Given the description of an element on the screen output the (x, y) to click on. 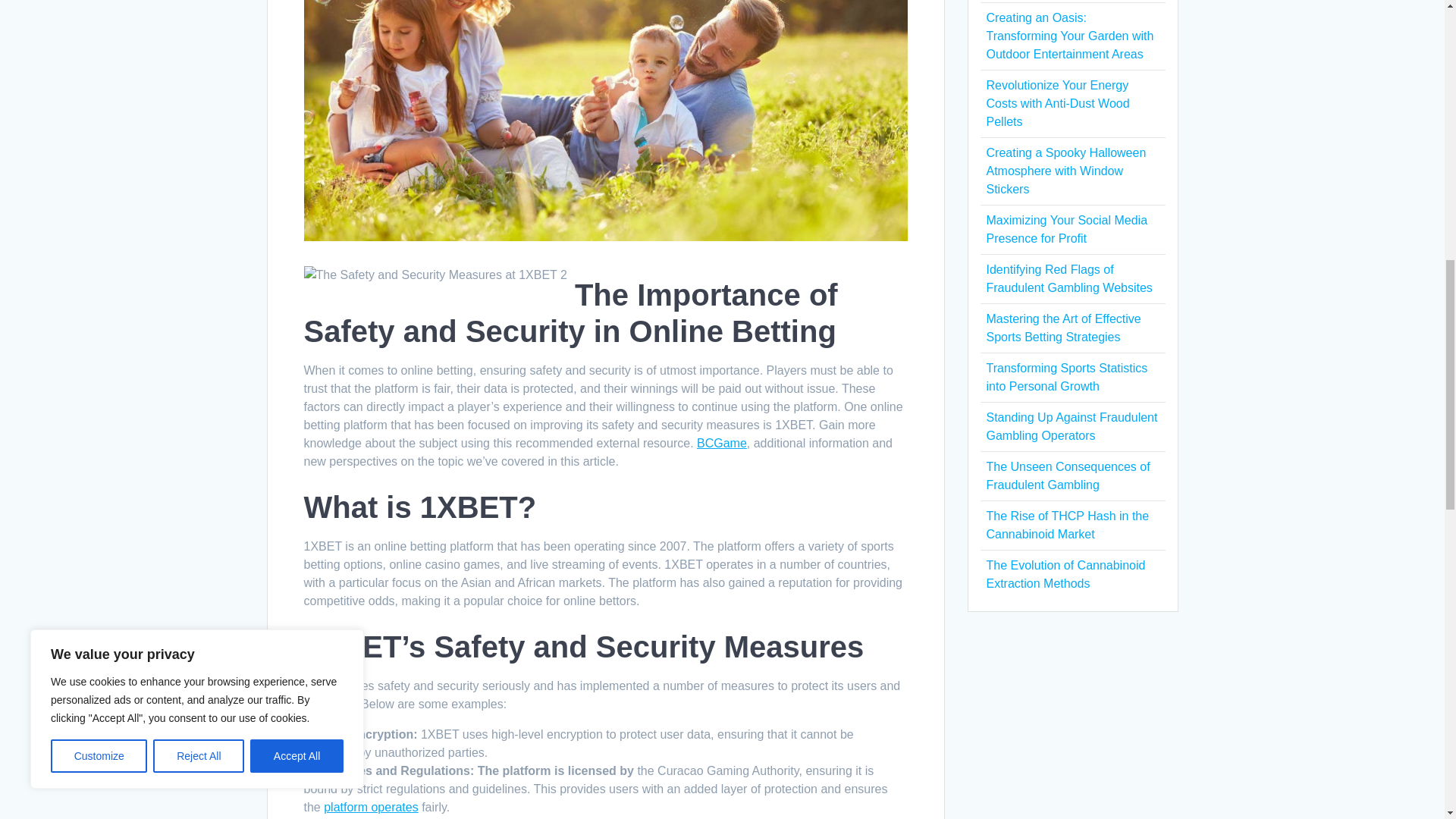
BCGame (721, 442)
Revolutionize Your Energy Costs with Anti-Dust Wood Pellets (1057, 102)
platform operates (371, 807)
